Given the description of an element on the screen output the (x, y) to click on. 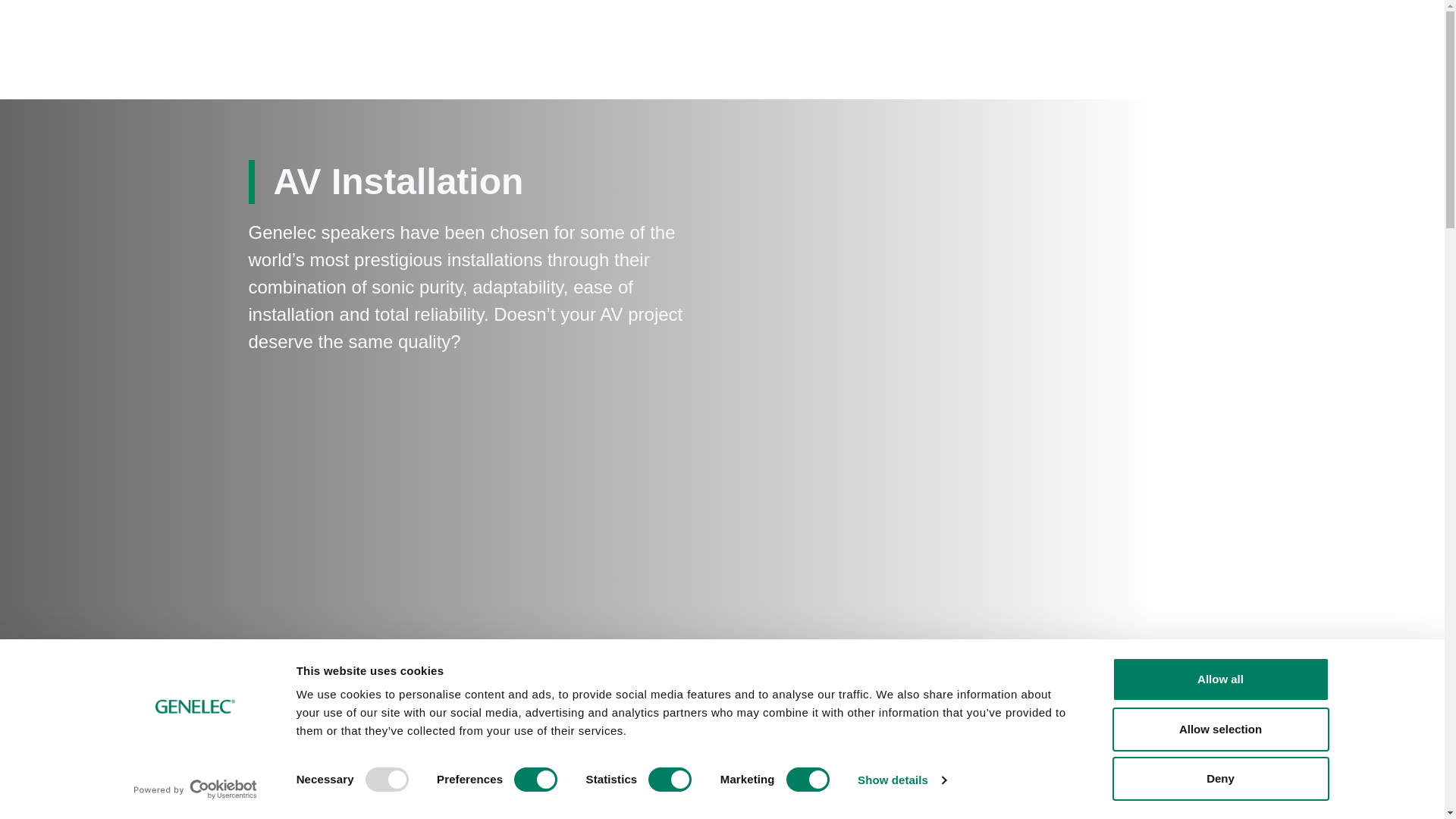
Show details (900, 780)
